Given the description of an element on the screen output the (x, y) to click on. 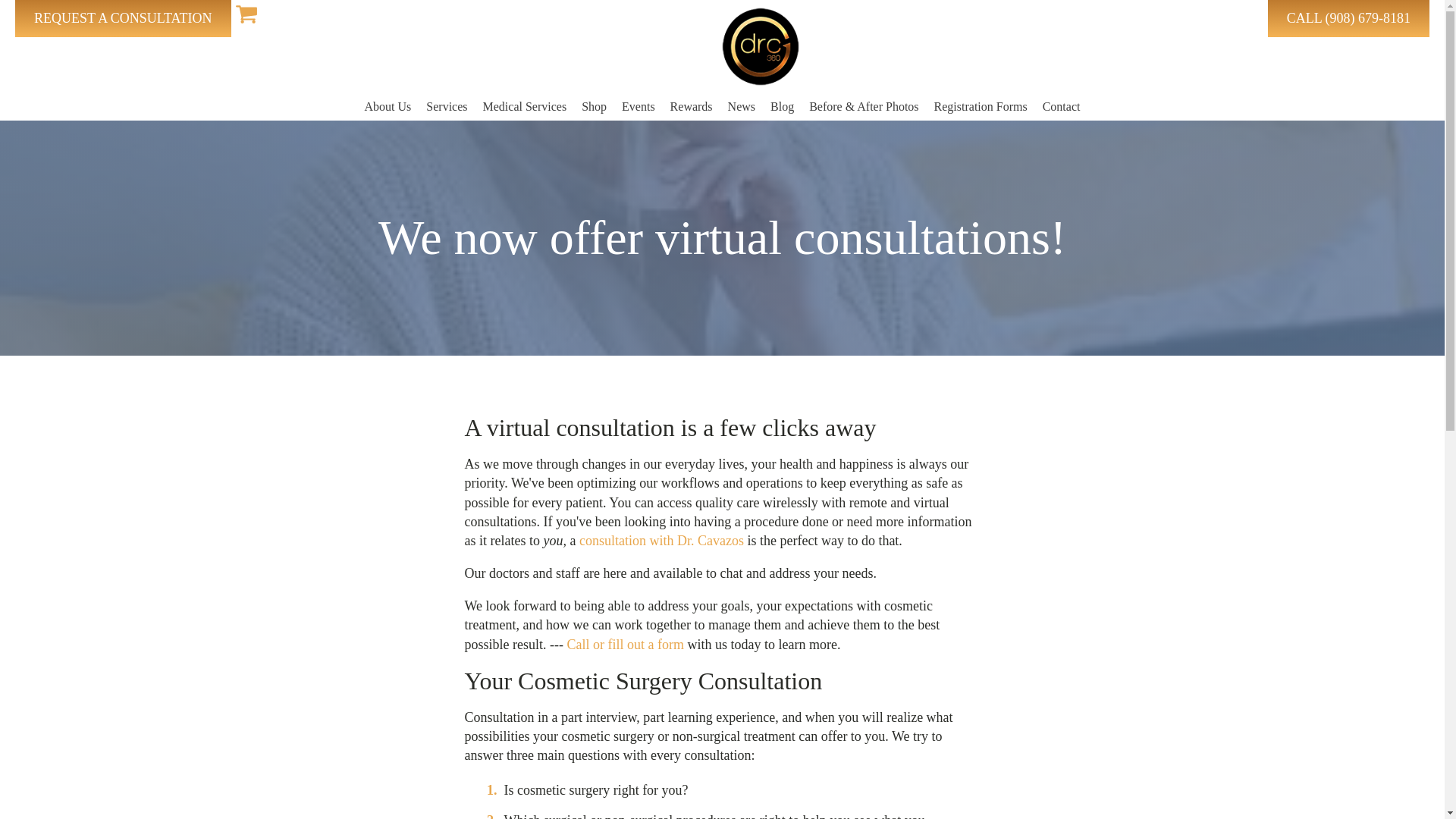
About Us (387, 106)
Services (446, 106)
REQUEST A CONSULTATION (122, 18)
